Given the description of an element on the screen output the (x, y) to click on. 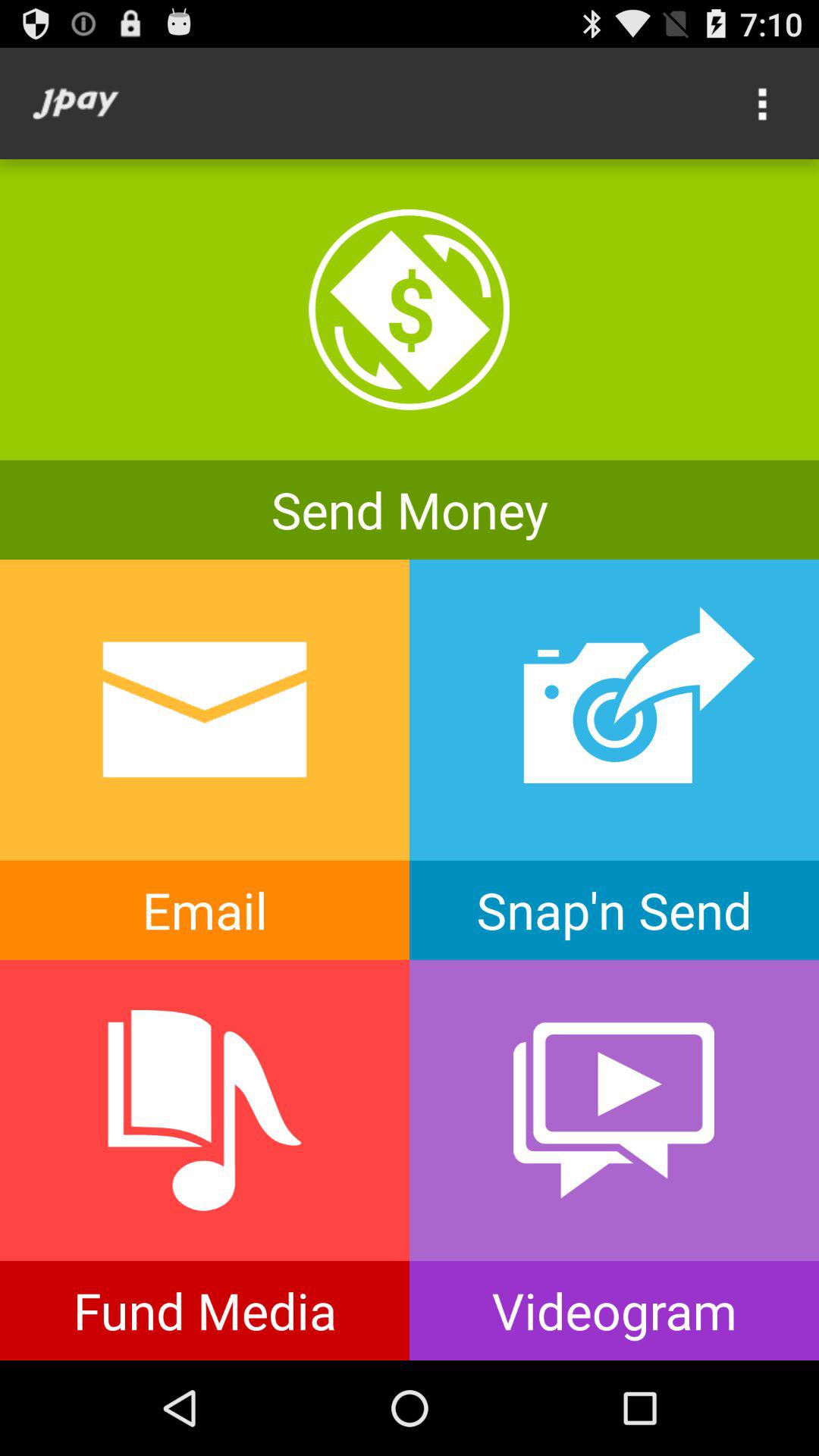
expand the setting (763, 103)
